Given the description of an element on the screen output the (x, y) to click on. 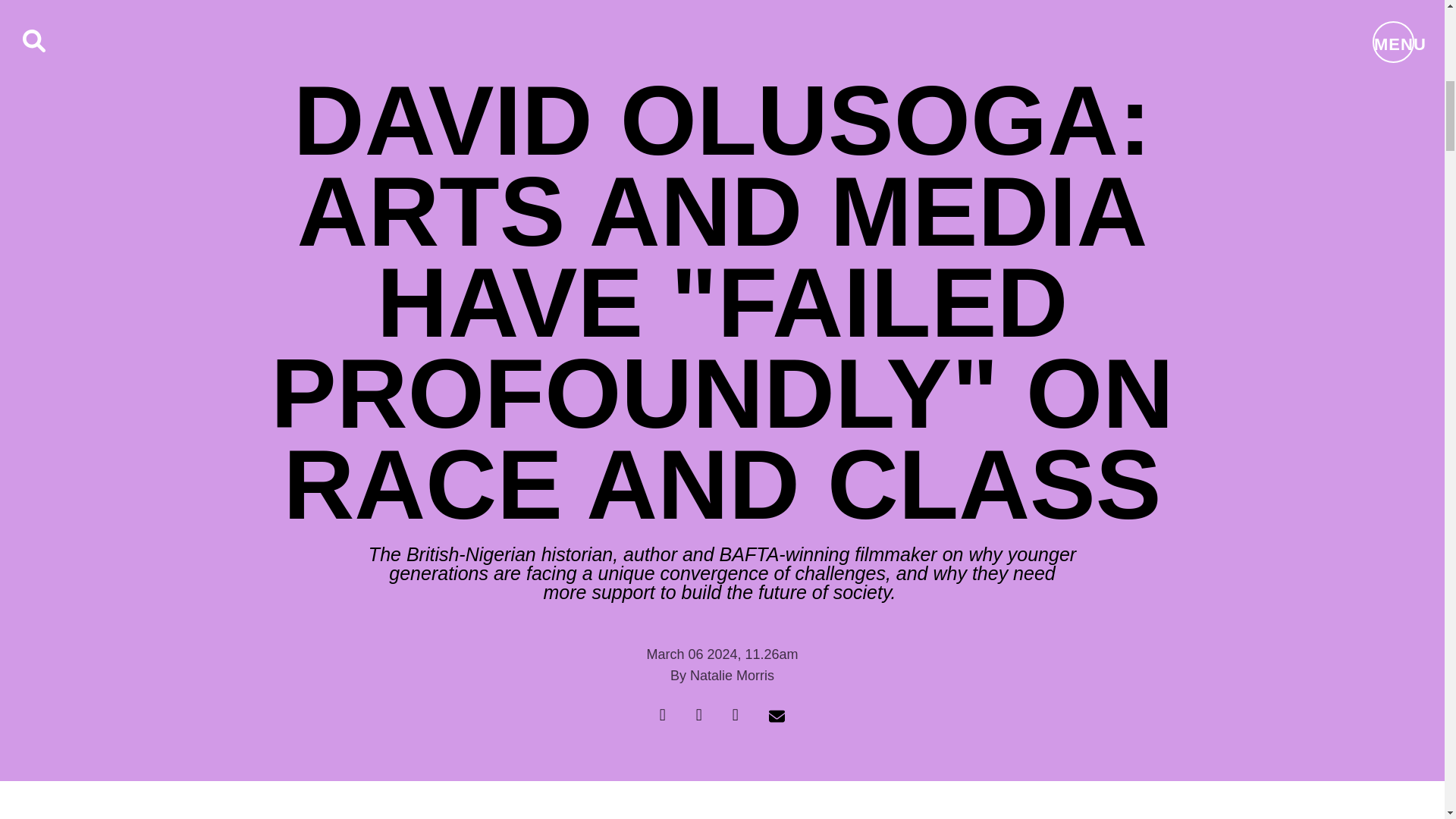
Natalie Morris (732, 675)
